Given the description of an element on the screen output the (x, y) to click on. 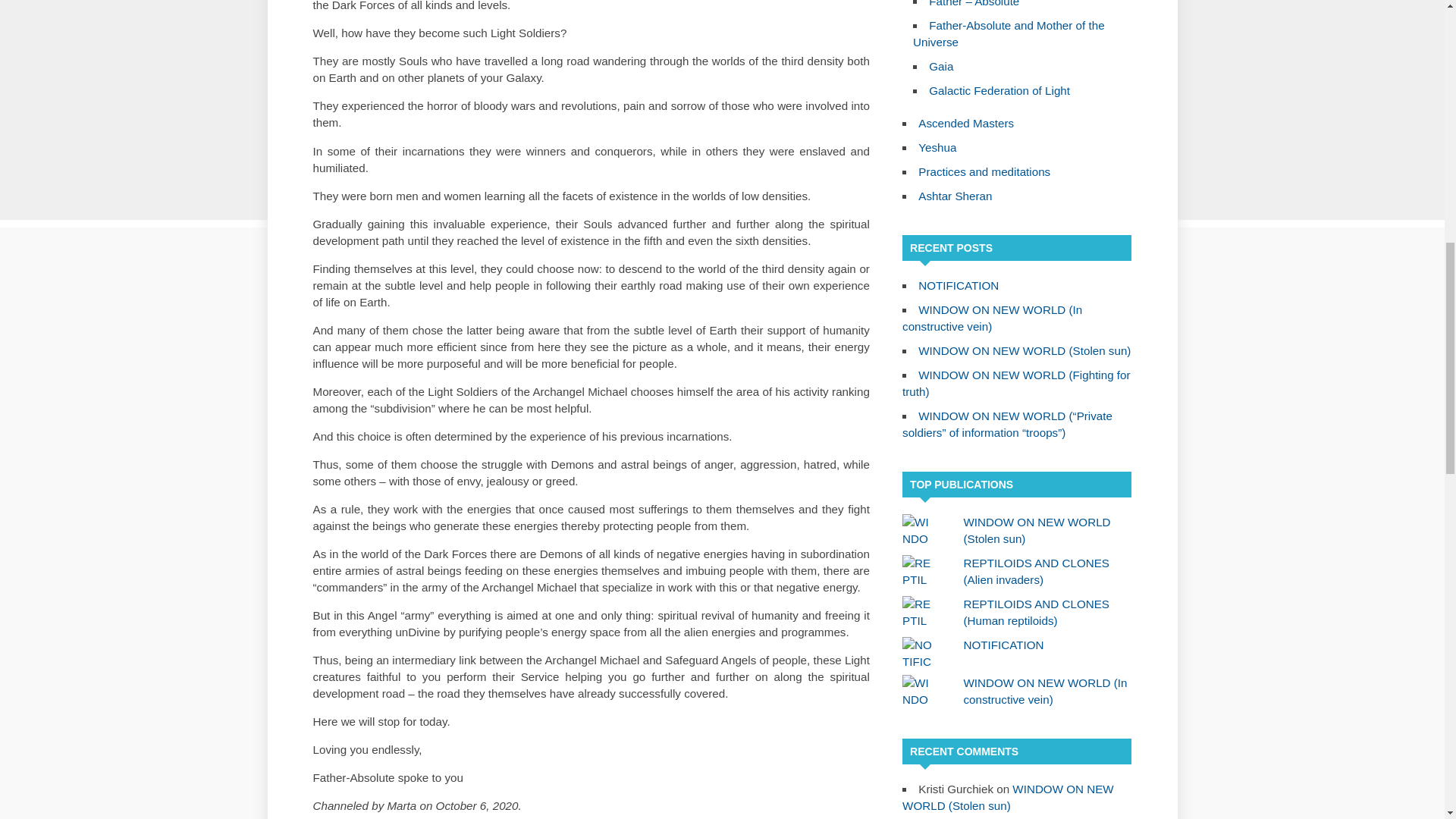
NOTIFICATION (1003, 644)
Galactic Federation of Light (999, 90)
Yeshua (937, 146)
Practices and meditations (983, 171)
Ashtar Sheran (954, 195)
Gaia (940, 65)
Father-Absolute and Mother of the Universe (1008, 33)
Ascended Masters (965, 123)
NOTIFICATION (958, 285)
